Given the description of an element on the screen output the (x, y) to click on. 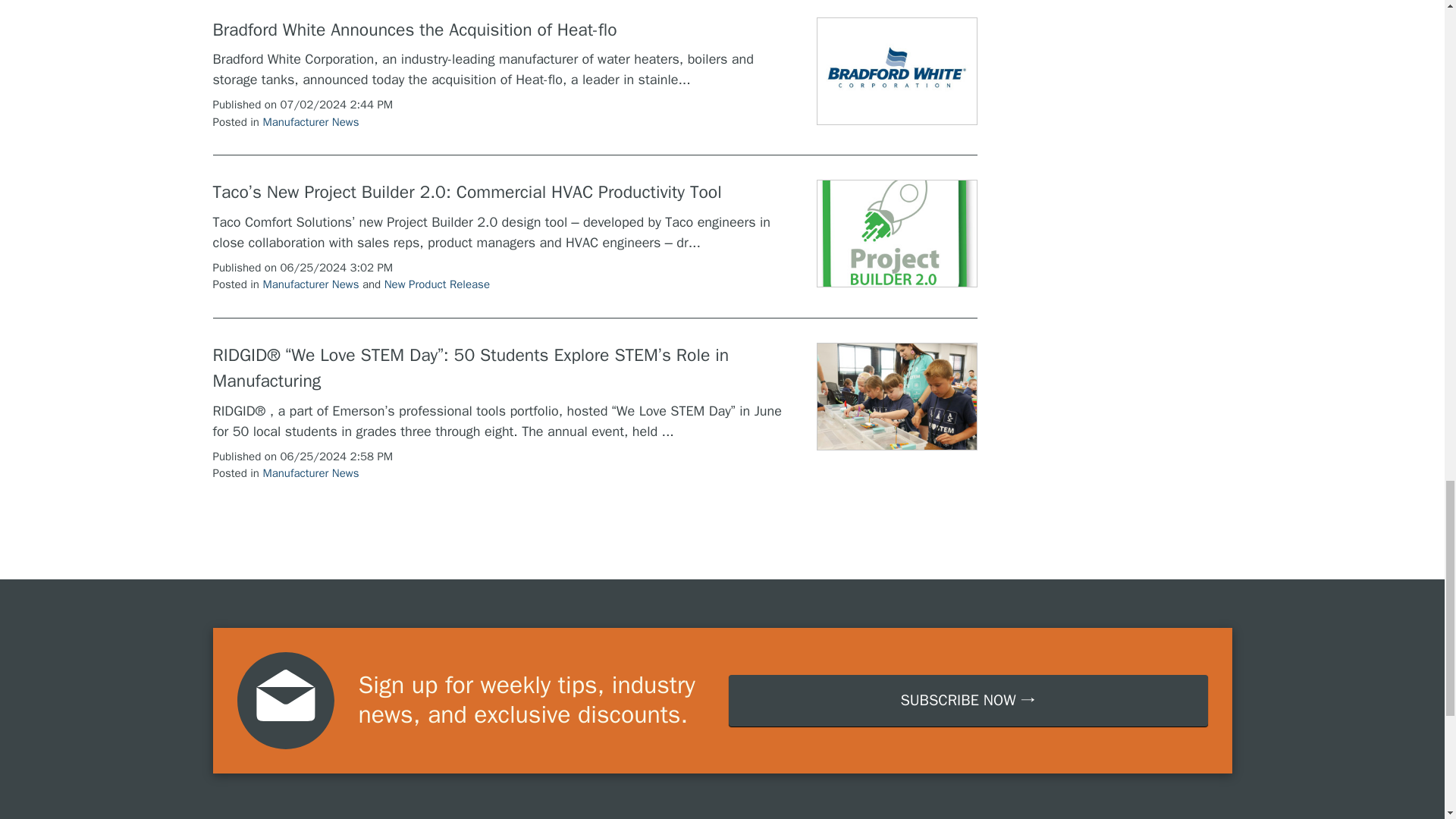
Manufacturer News (310, 121)
Manufacturer News (310, 472)
Manufacturer News (310, 284)
New Product Release (436, 284)
